Given the description of an element on the screen output the (x, y) to click on. 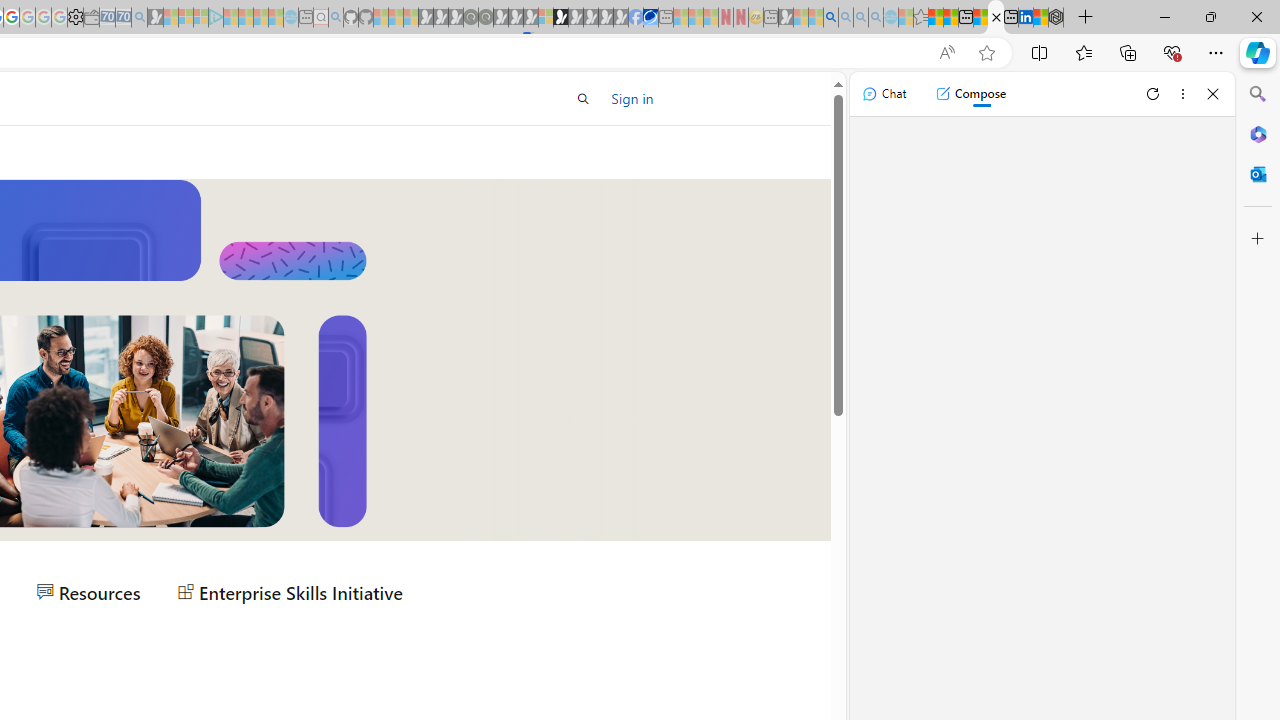
Sign in (632, 98)
Favorites - Sleeping (920, 17)
AQI & Health | AirNow.gov (650, 17)
Nordace | Facebook - Sleeping (635, 17)
